Given the description of an element on the screen output the (x, y) to click on. 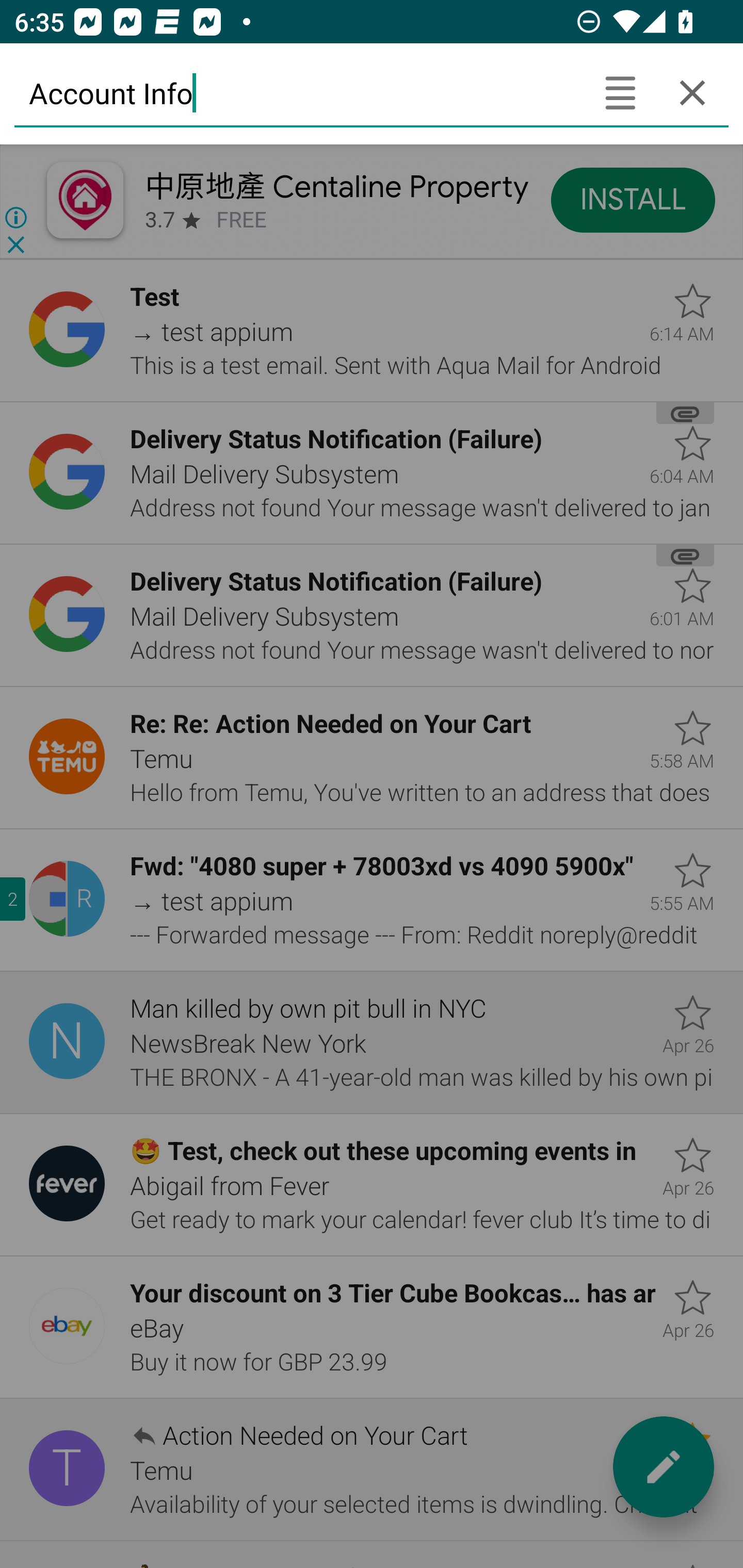
Account Info (298, 92)
Search headers only (619, 92)
Cancel (692, 92)
